Given the description of an element on the screen output the (x, y) to click on. 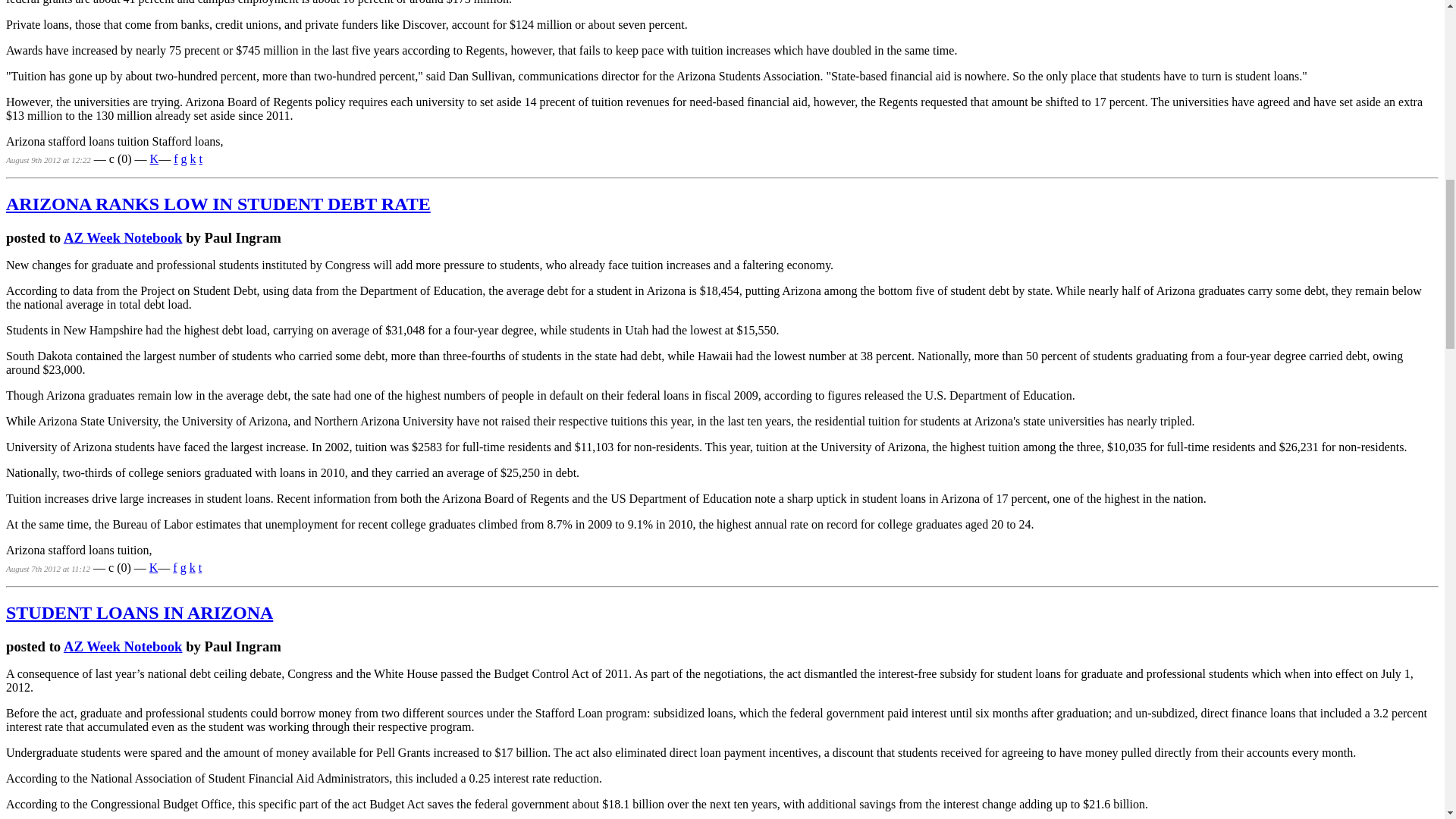
AZ Week Notebook (123, 237)
STUDENT LOANS IN ARIZONA (139, 612)
ARIZONA RANKS LOW IN STUDENT DEBT RATE (217, 203)
